Given the description of an element on the screen output the (x, y) to click on. 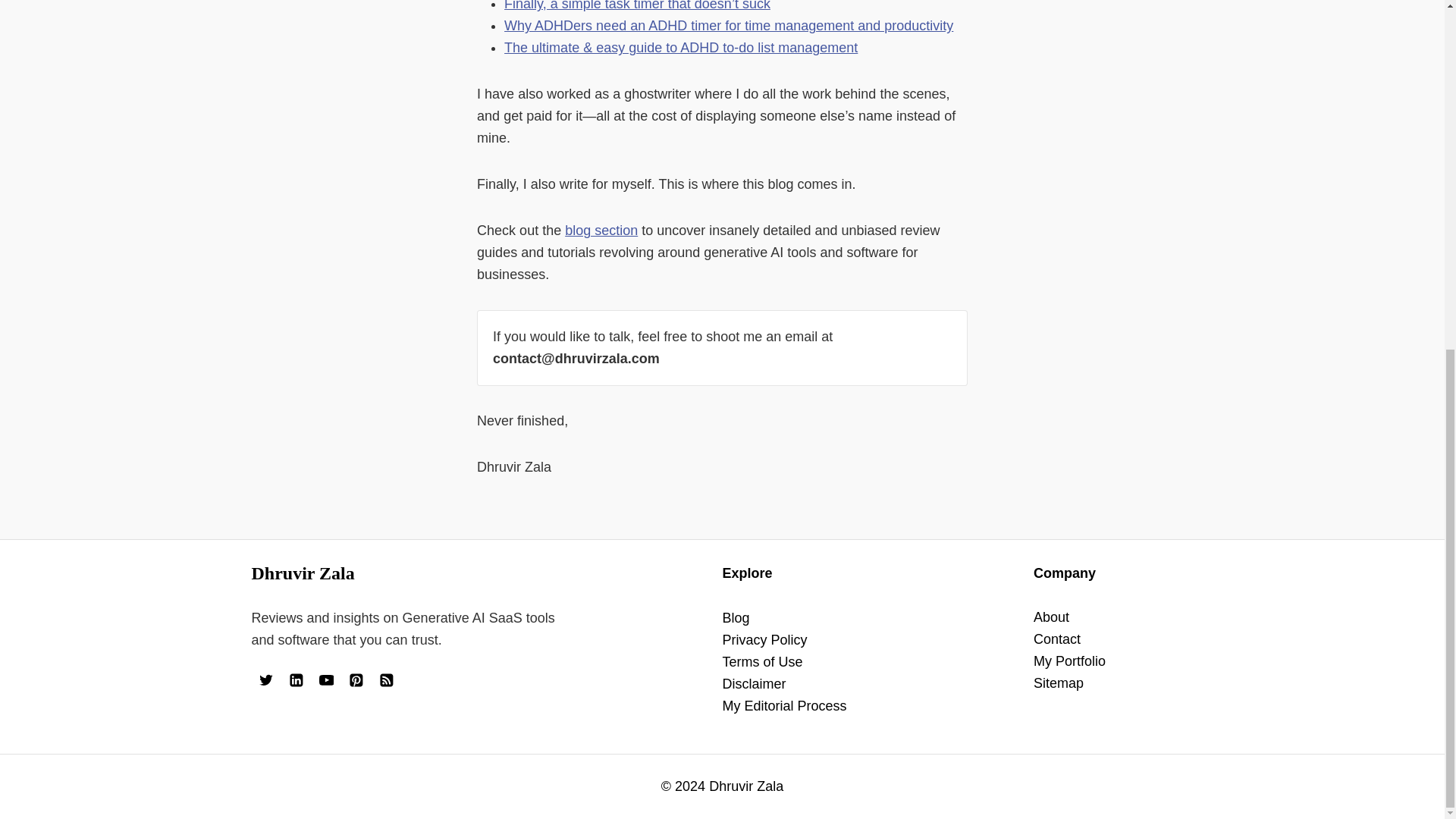
My Portfolio (1069, 661)
Blog (735, 617)
Terms of Use (762, 661)
Privacy Policy (764, 639)
My Editorial Process (783, 705)
Disclaimer (754, 683)
blog section (600, 230)
Contact (1056, 639)
About (1050, 616)
